Given the description of an element on the screen output the (x, y) to click on. 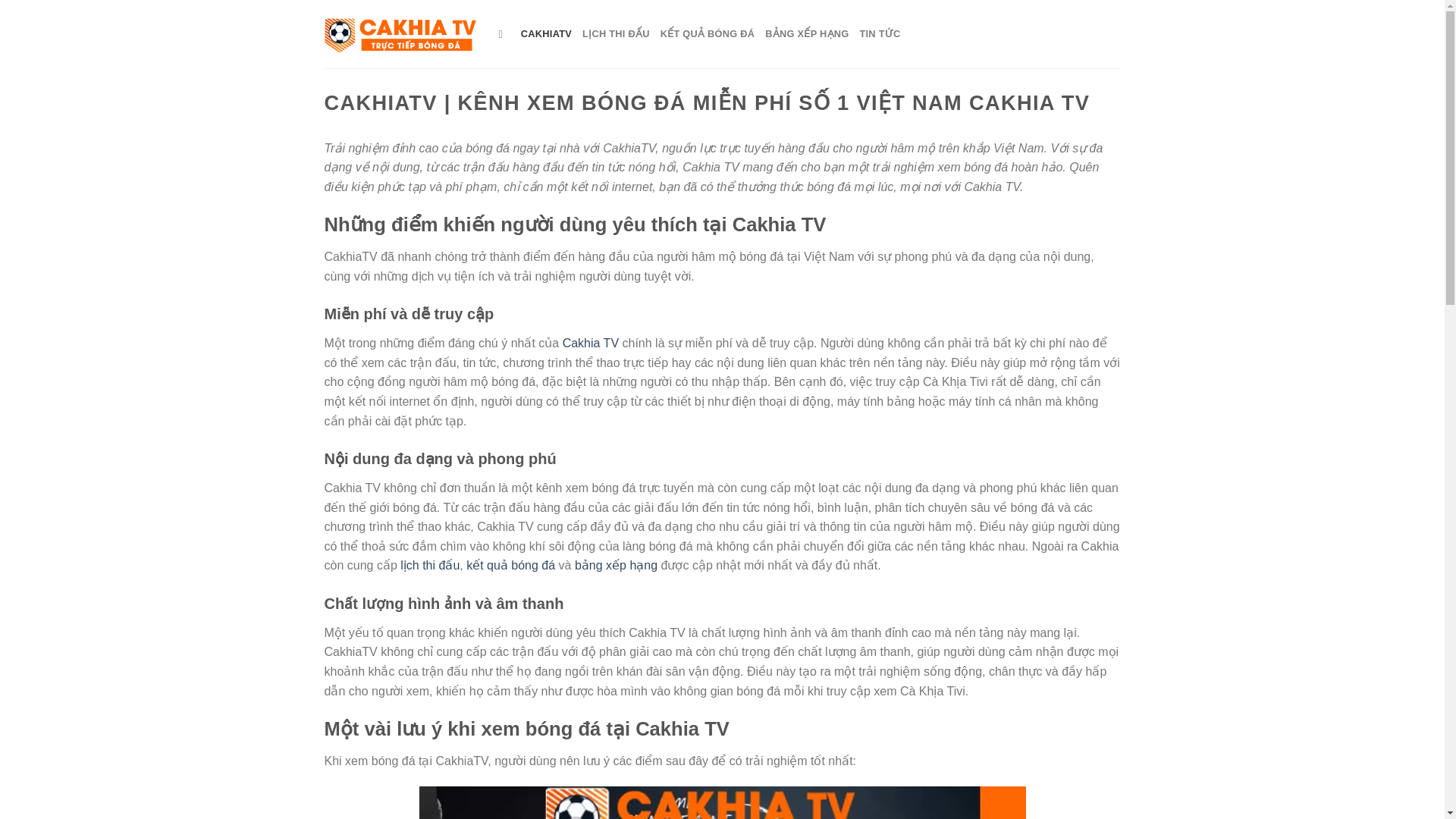
Cakhia TV (590, 342)
CAKHIATV (546, 33)
